Given the description of an element on the screen output the (x, y) to click on. 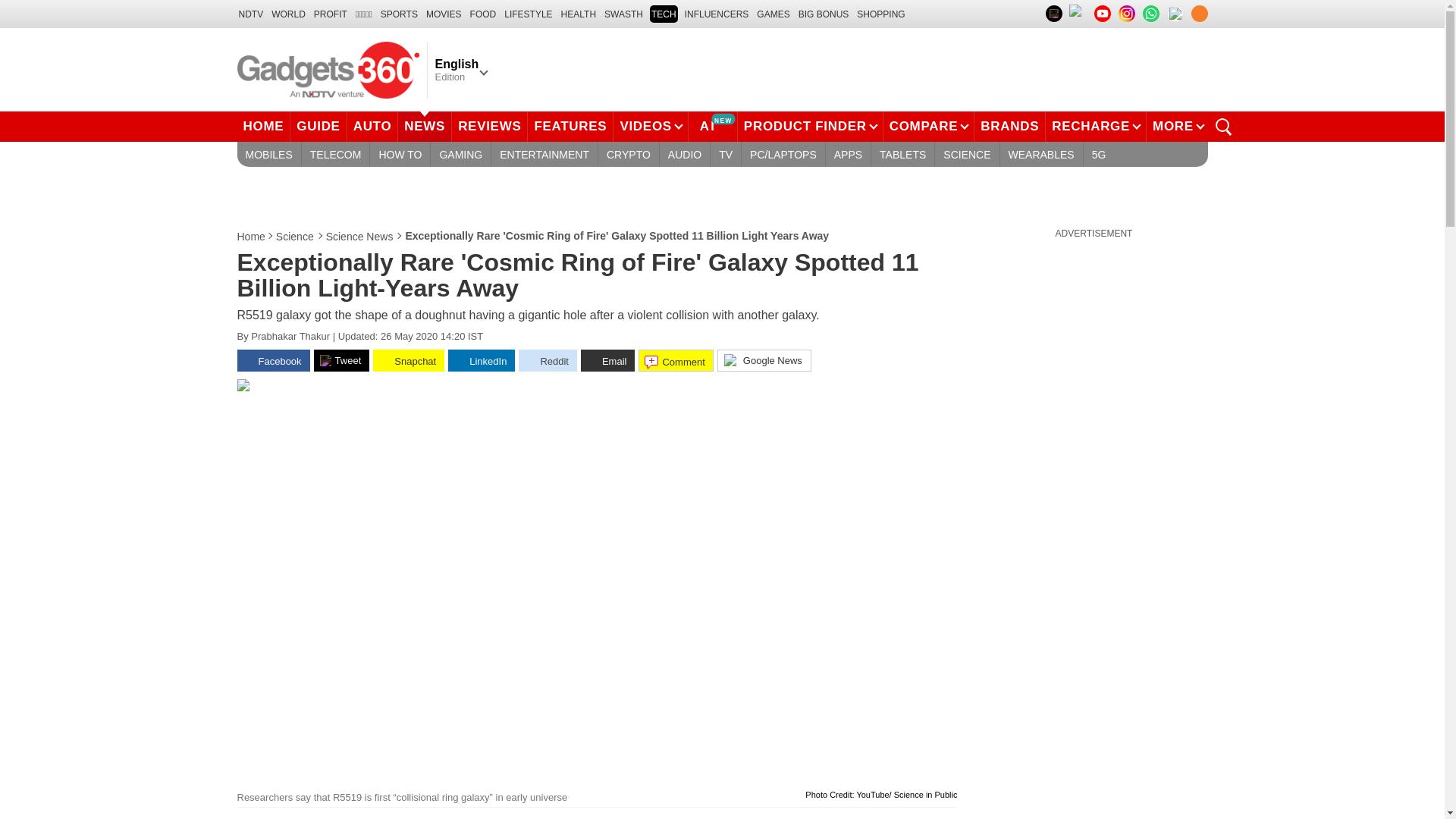
WORLD (288, 13)
GUIDE (317, 126)
LIFESTYLE (527, 13)
NDTV (249, 13)
Big Bonus (823, 13)
MOVIES (444, 13)
SHOPPING (880, 13)
FOOD (482, 13)
HEALTH (577, 13)
RSS (1199, 13)
